Given the description of an element on the screen output the (x, y) to click on. 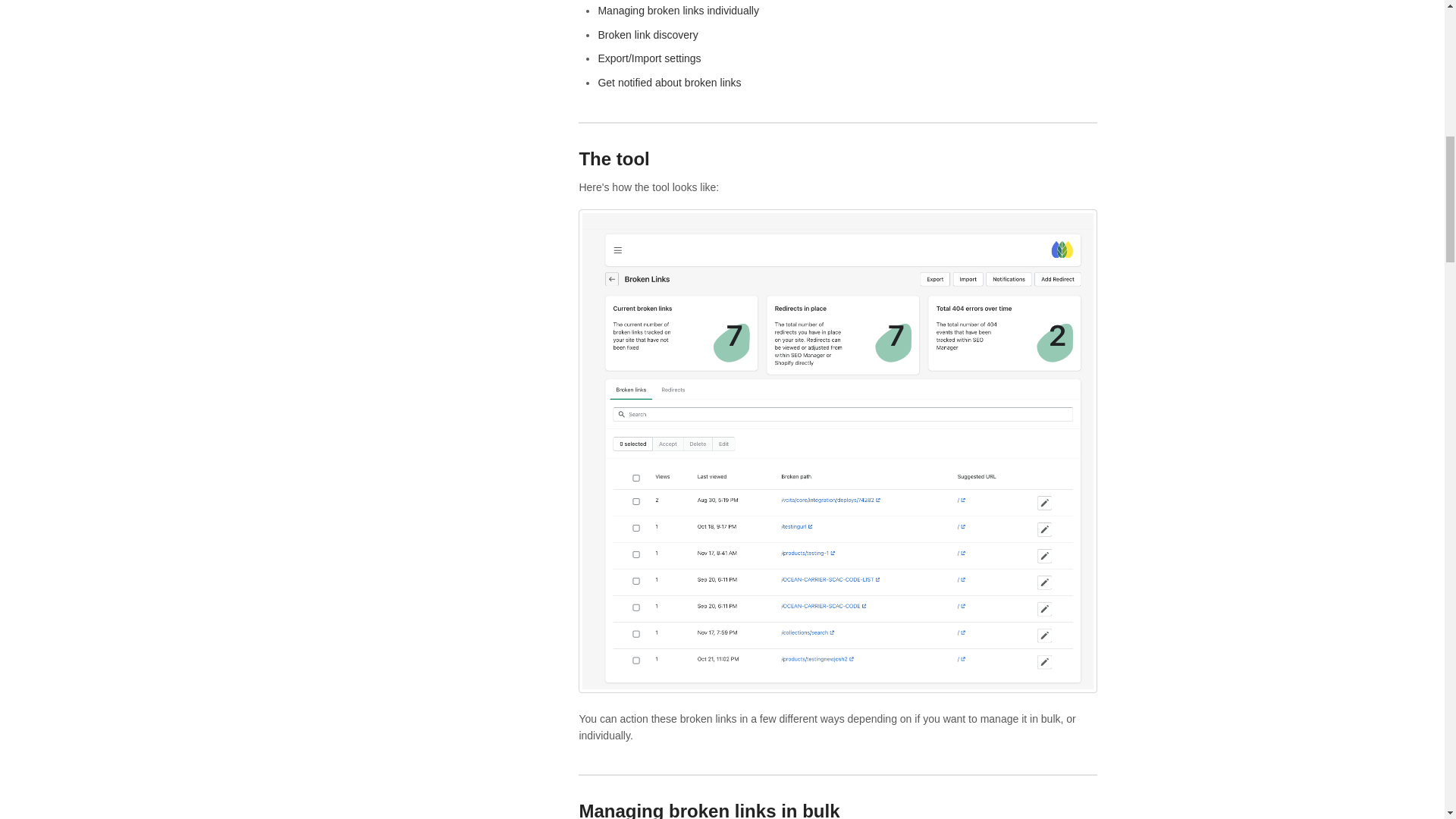
Managing broken links individually (677, 10)
Get notified about broken links (668, 82)
Broken link discovery (646, 34)
